Given the description of an element on the screen output the (x, y) to click on. 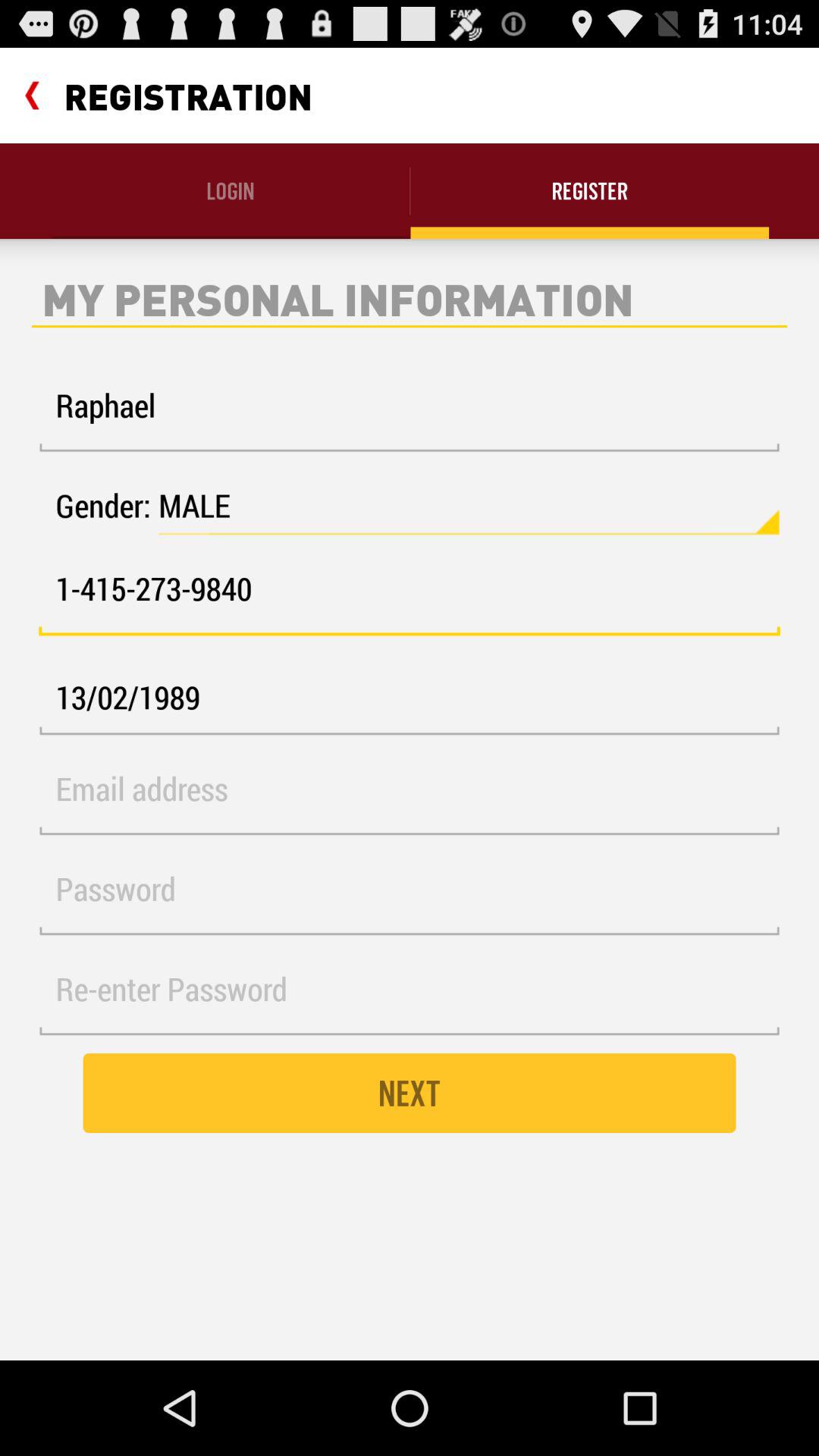
select the 13/02/1989 item (409, 697)
